Given the description of an element on the screen output the (x, y) to click on. 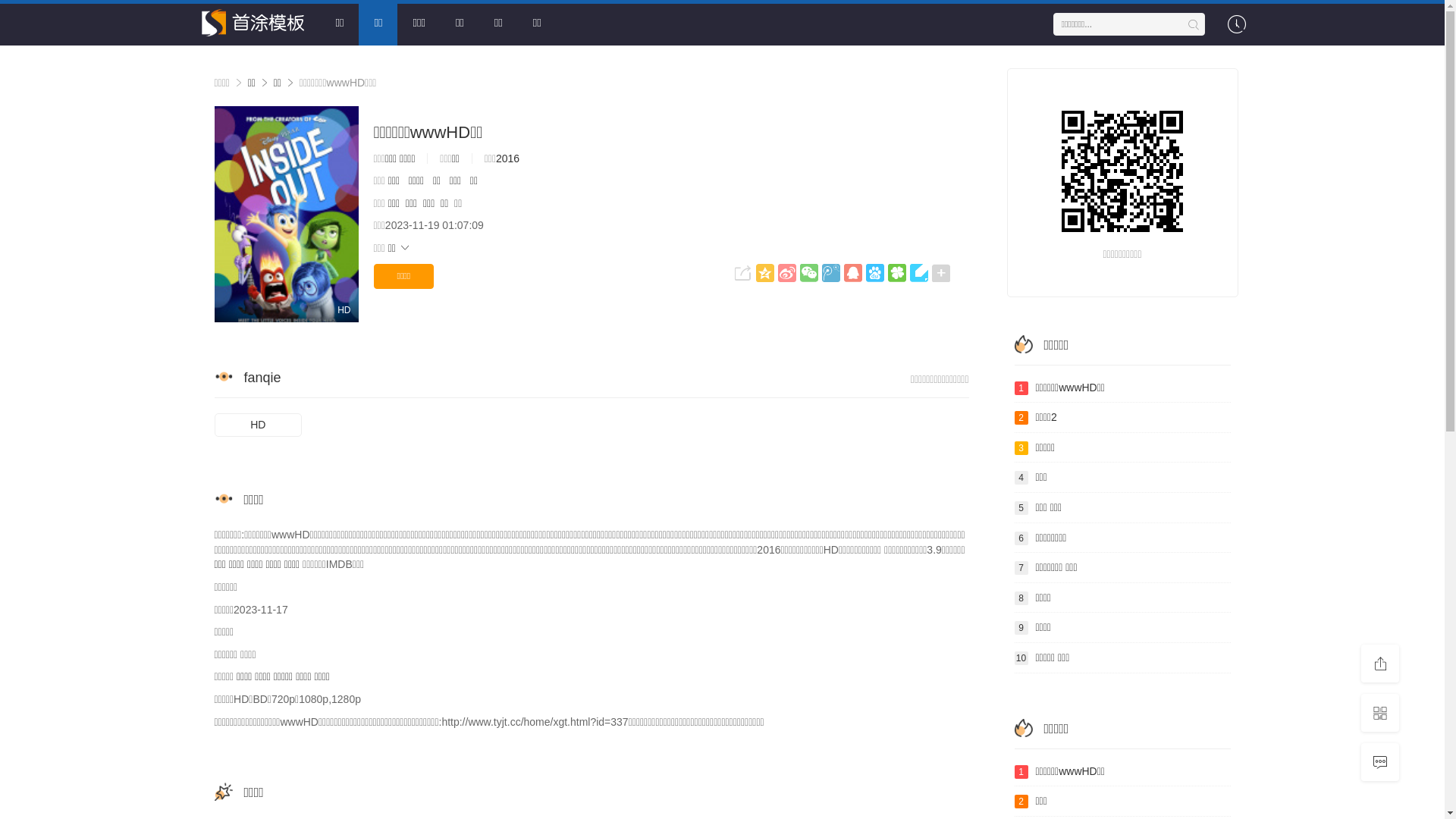
http://www.tyjt.cc/home/xgt.html?id=67 Element type: hover (1121, 171)
HD Element type: text (257, 425)
HD Element type: text (285, 214)
2016 Element type: text (507, 158)
